Given the description of an element on the screen output the (x, y) to click on. 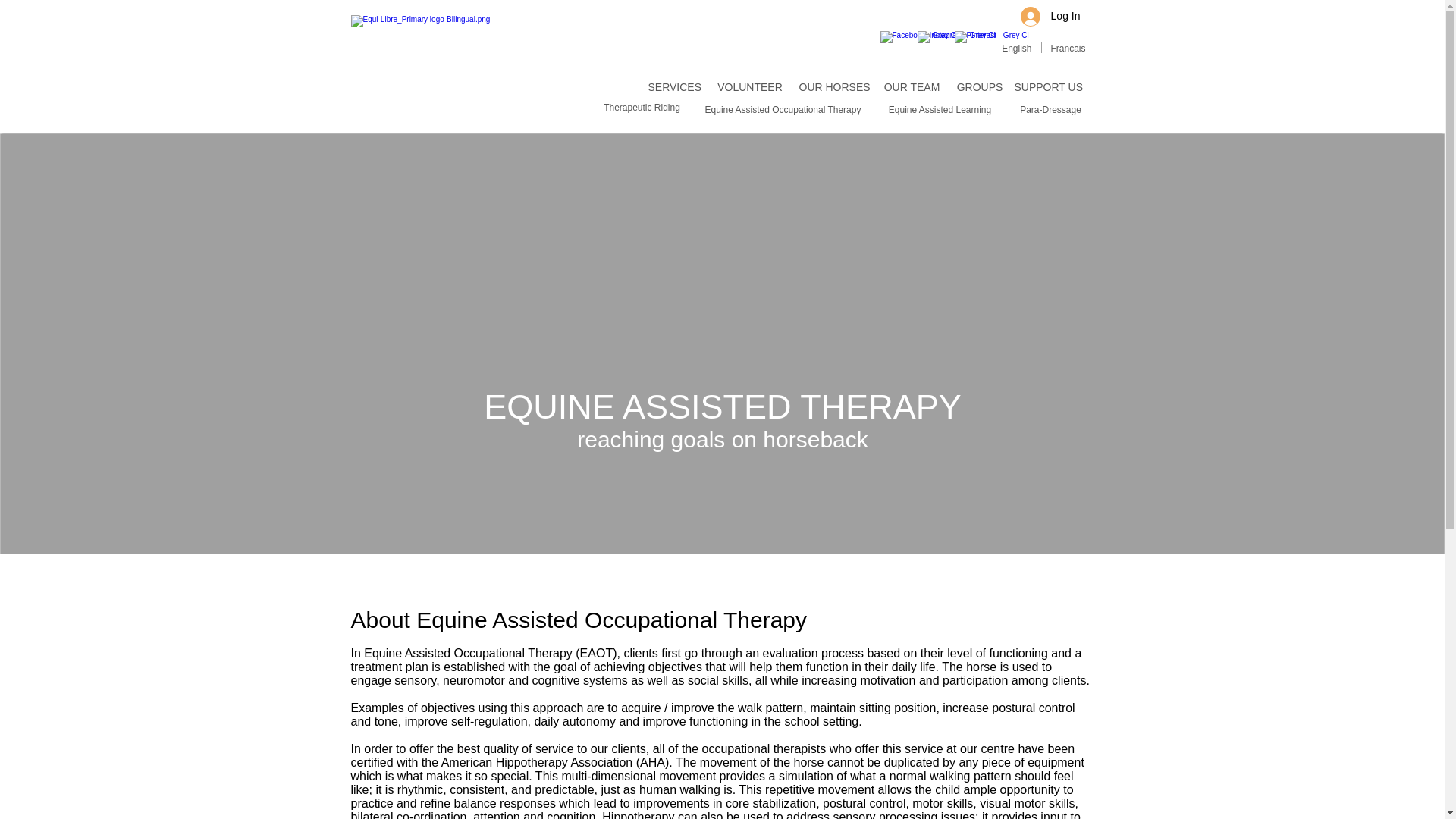
Therapeutic Riding (642, 107)
SUPPORT US (1048, 87)
GROUPS (979, 87)
Francais (1068, 48)
OUR TEAM (911, 87)
Log In (1050, 16)
VOLUNTEER (750, 87)
SERVICES (674, 87)
English (1015, 48)
Para-Dressage (1050, 110)
